Given the description of an element on the screen output the (x, y) to click on. 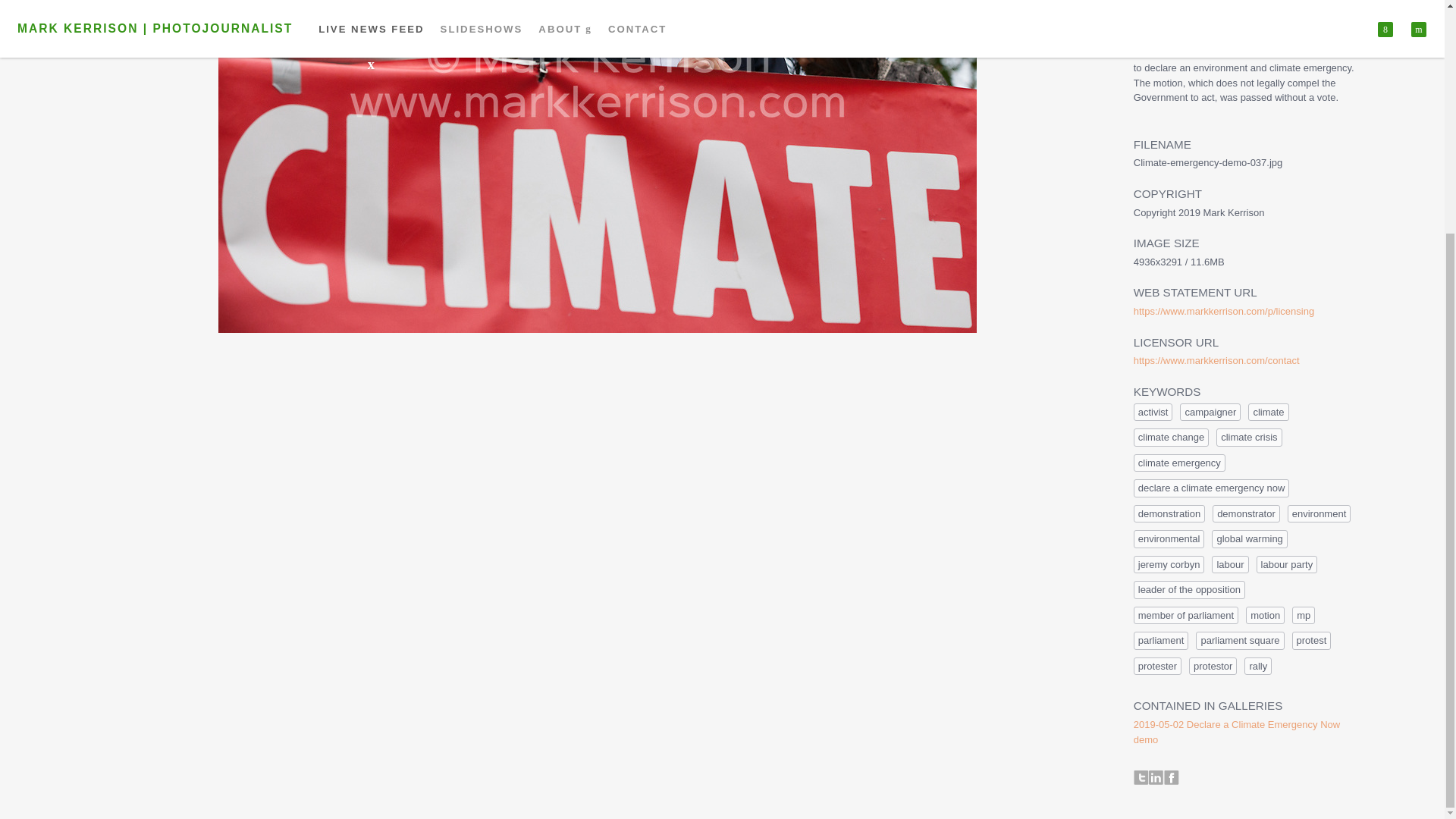
climate (1267, 412)
mp (1303, 615)
jeremy corbyn (1169, 565)
activist (1153, 412)
climate emergency (1179, 463)
climate change (1171, 437)
climate crisis (1248, 437)
global warming (1249, 538)
environmental (1169, 538)
leader of the opposition (1189, 589)
member of parliament (1186, 615)
motion (1265, 615)
labour (1229, 565)
declare a climate emergency now (1212, 488)
labour party (1286, 565)
